Given the description of an element on the screen output the (x, y) to click on. 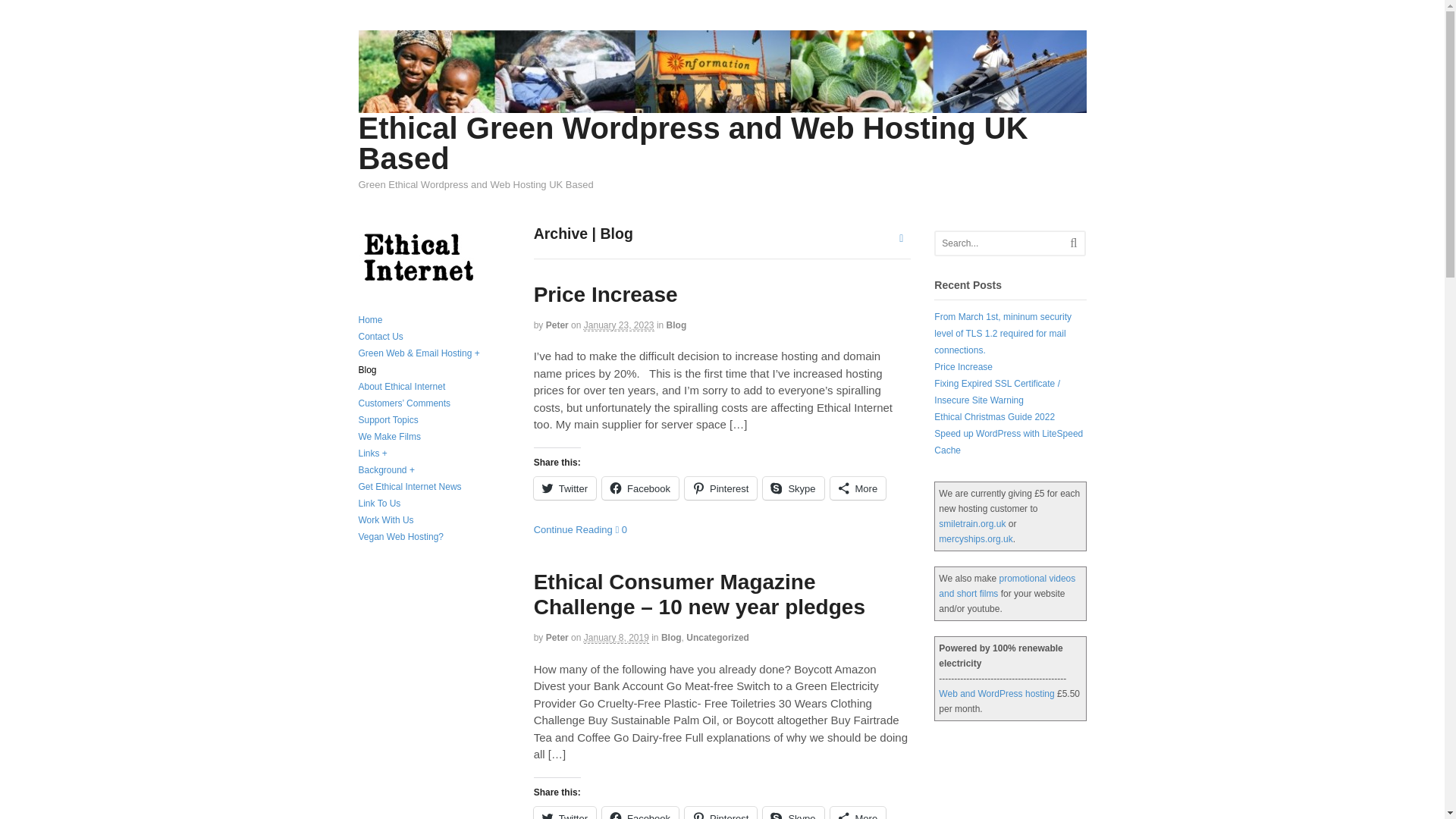
Green Ethical Wordpress and Web Hosting UK Based (722, 104)
Click to share on Facebook (640, 487)
Price Increase (606, 294)
Click to share on Pinterest (720, 487)
More (857, 487)
Twitter (564, 487)
Search... (1005, 242)
Skype (793, 487)
Price Increase (606, 294)
Peter (557, 325)
View all items in Blog (676, 325)
Click to share on Skype (793, 487)
Ethical Green Wordpress and Web Hosting UK Based (692, 143)
Click to share on Twitter (564, 487)
Posts by peter (557, 325)
